Given the description of an element on the screen output the (x, y) to click on. 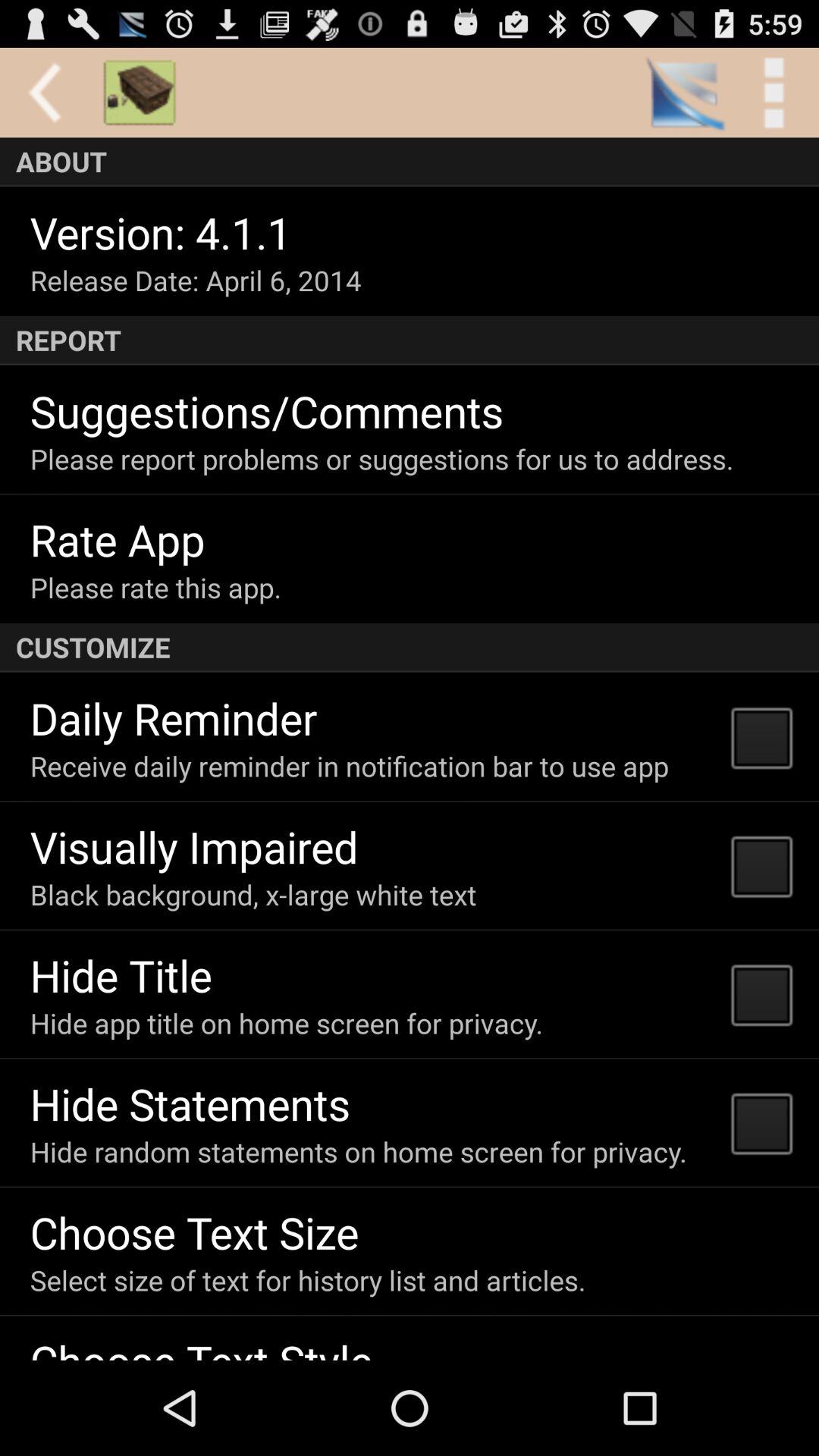
jump to please report problems item (381, 458)
